Given the description of an element on the screen output the (x, y) to click on. 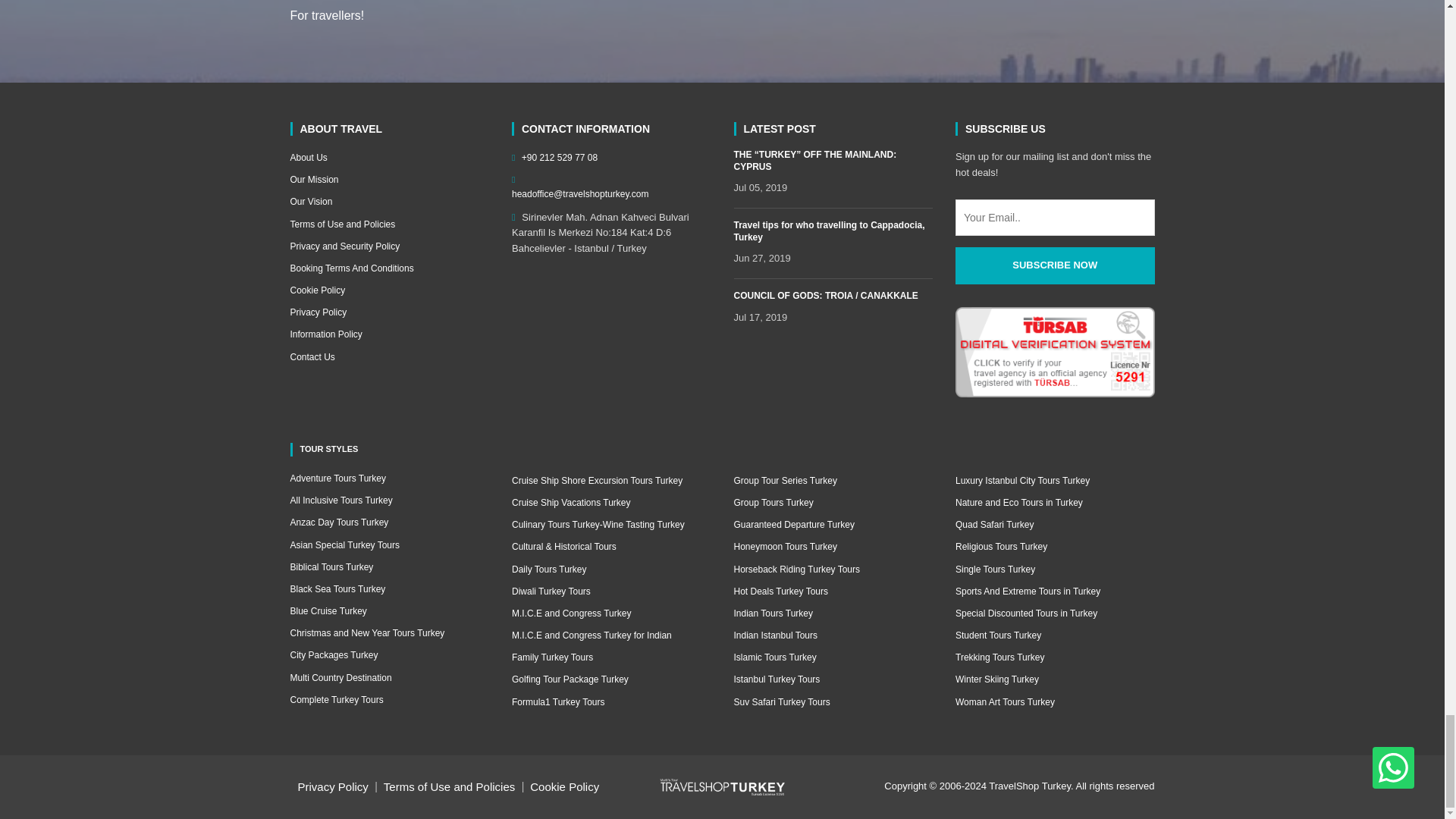
Cookie Policy (389, 290)
Our Vision (389, 201)
About Us (389, 157)
Booking Terms And Conditions (389, 268)
SUBSCRIBE NOW (1054, 265)
Our Mission (389, 179)
Privacy Policy (389, 312)
Terms of Use and Policies (389, 224)
Privacy and Security Policy (389, 246)
